Given the description of an element on the screen output the (x, y) to click on. 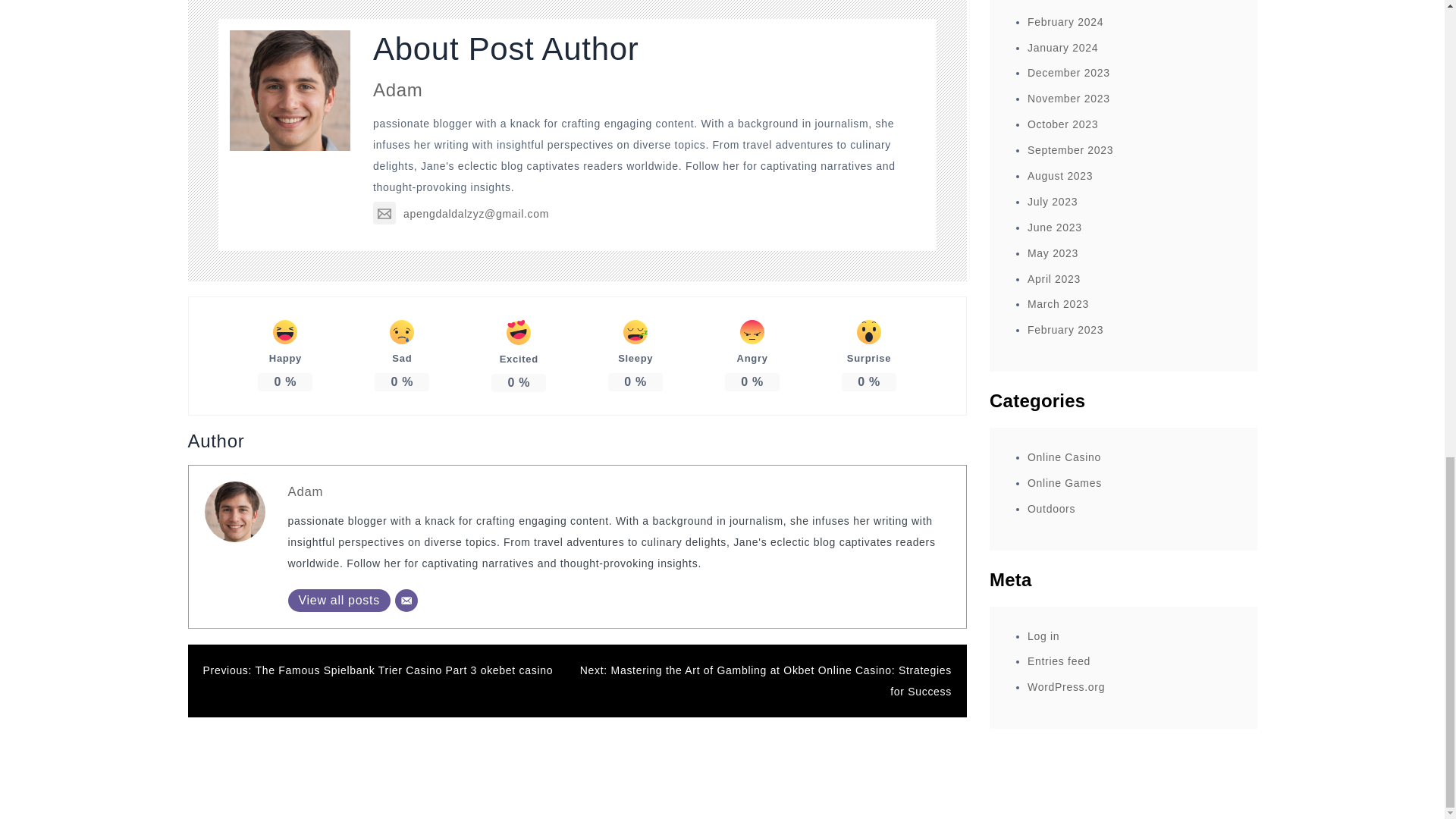
Adam (305, 491)
Adam (397, 89)
View all posts (339, 599)
Adam (305, 491)
View all posts (339, 599)
